Given the description of an element on the screen output the (x, y) to click on. 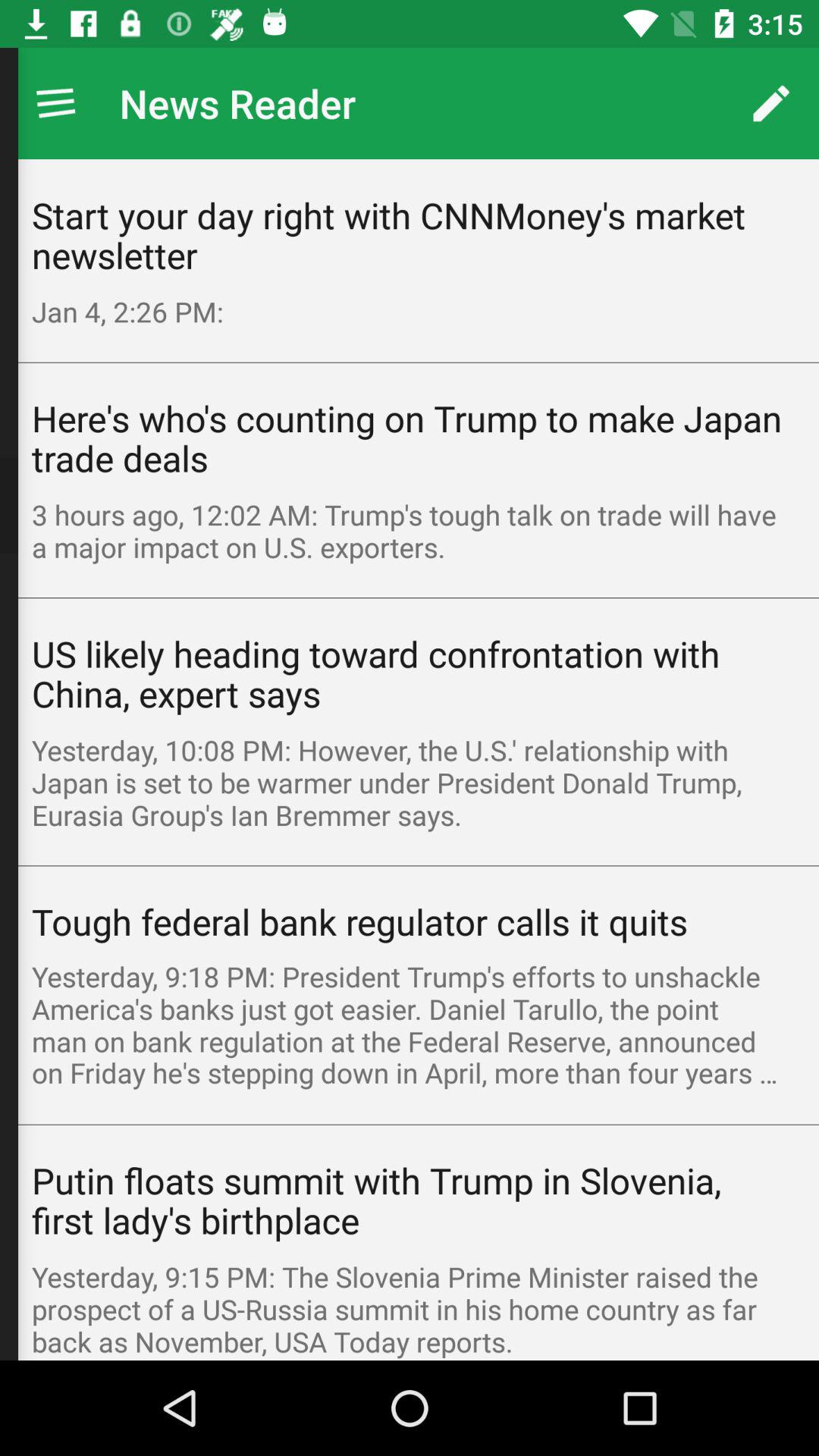
select the item at the top right corner (771, 103)
